Given the description of an element on the screen output the (x, y) to click on. 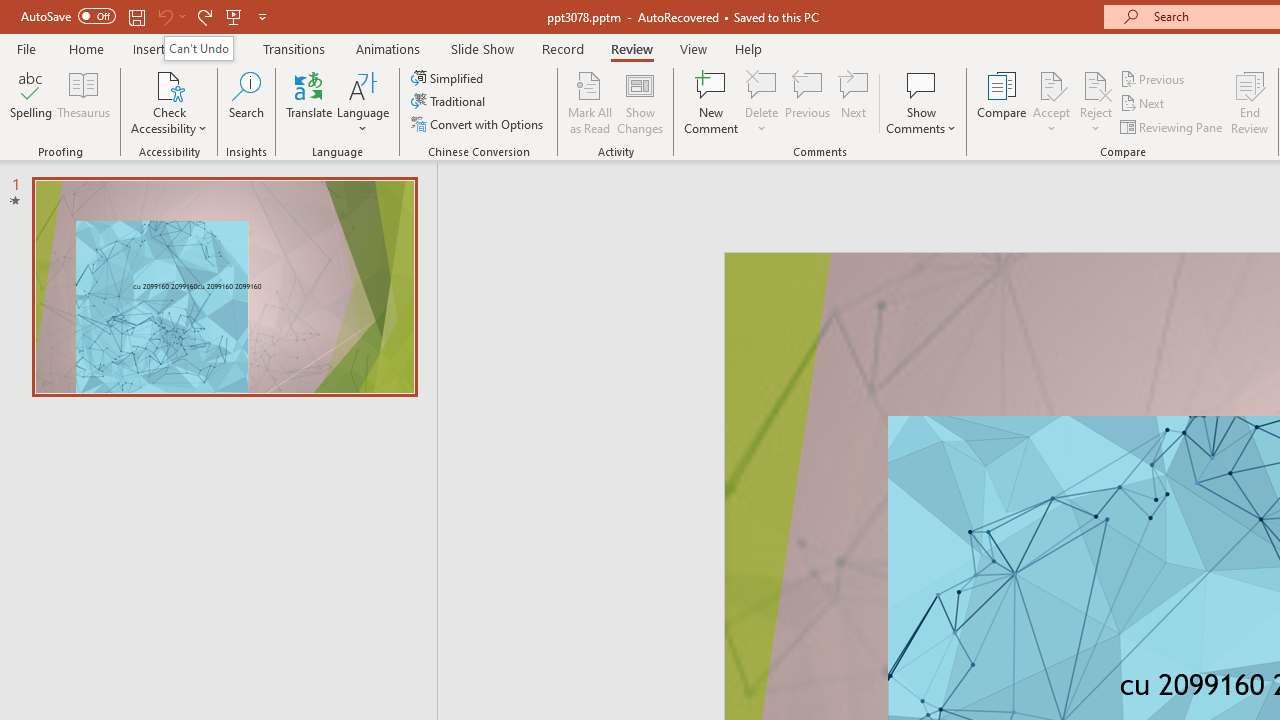
Accept Change (1051, 84)
Show Changes (639, 102)
Language (363, 102)
Traditional (449, 101)
End Review (1249, 102)
Translate (309, 102)
